Given the description of an element on the screen output the (x, y) to click on. 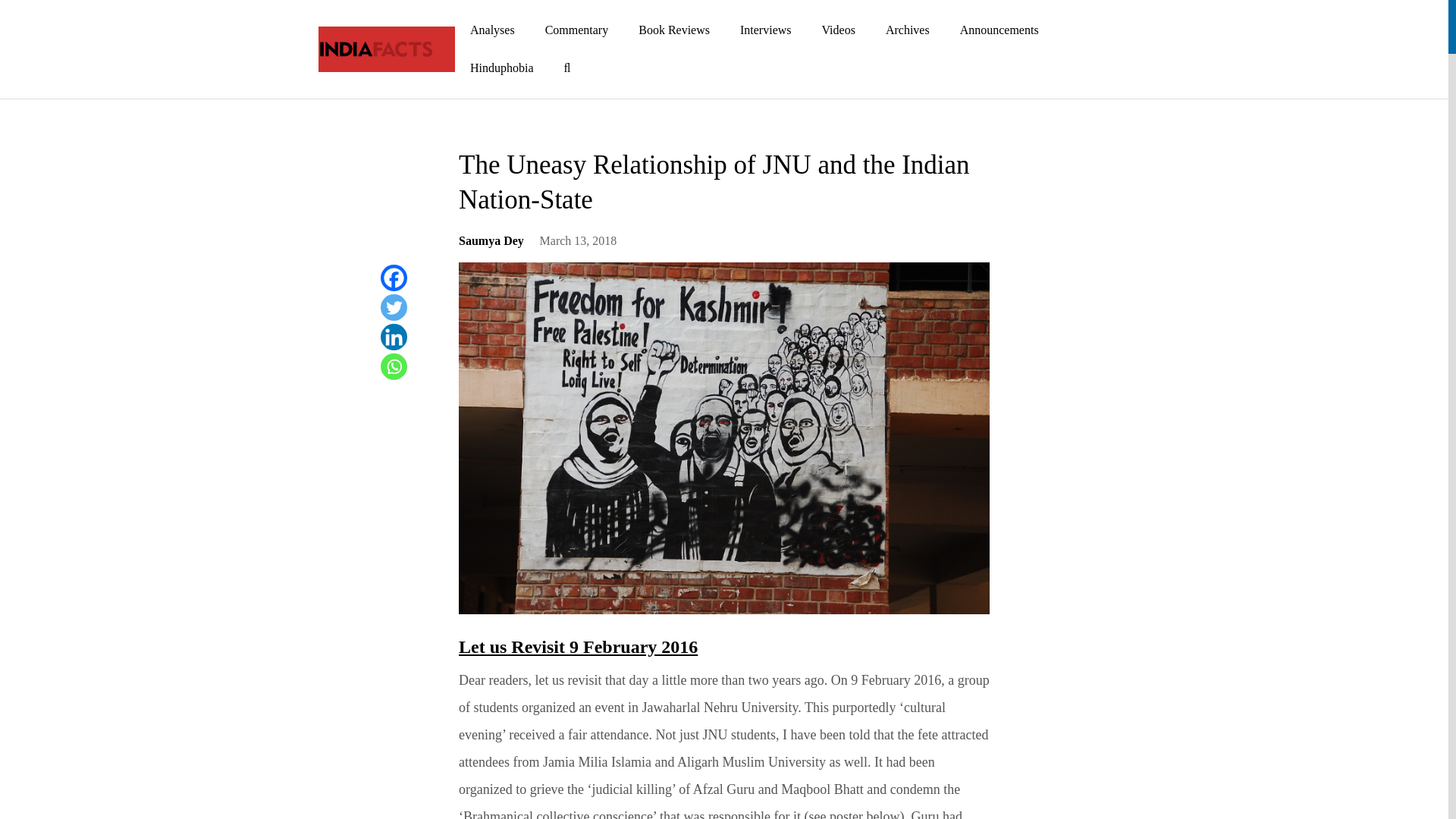
Announcements (999, 30)
Whatsapp (393, 366)
Analyses (491, 30)
Indiafacts (375, 49)
Book Reviews (674, 30)
Interviews (765, 30)
Saumya Dey (491, 246)
Linkedin (393, 336)
Hinduphobia (501, 67)
March 13, 2018 (578, 246)
Twitter (393, 307)
Archives (907, 30)
Videos (838, 30)
Facebook (393, 277)
Commentary (576, 30)
